Given the description of an element on the screen output the (x, y) to click on. 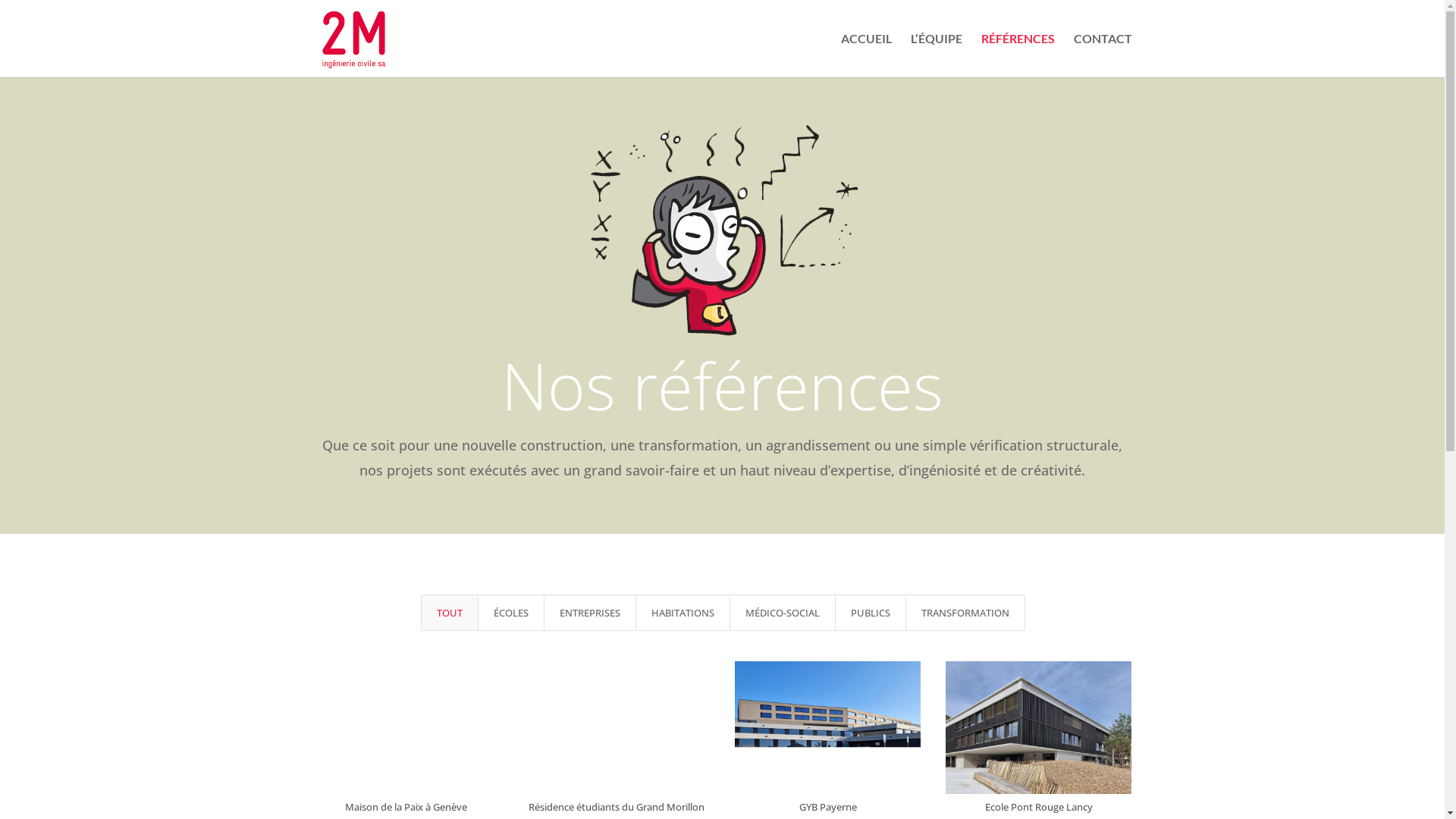
ENTREPRISES Element type: text (588, 612)
HABITATIONS Element type: text (682, 612)
PUBLICS Element type: text (869, 612)
GYB Payerne Element type: text (827, 806)
TOUT Element type: text (448, 612)
Ecole Pont Rouge Lancy Element type: text (1038, 806)
ACCUEIL Element type: text (865, 55)
TRANSFORMATION Element type: text (965, 612)
CONTACT Element type: text (1102, 55)
